Given the description of an element on the screen output the (x, y) to click on. 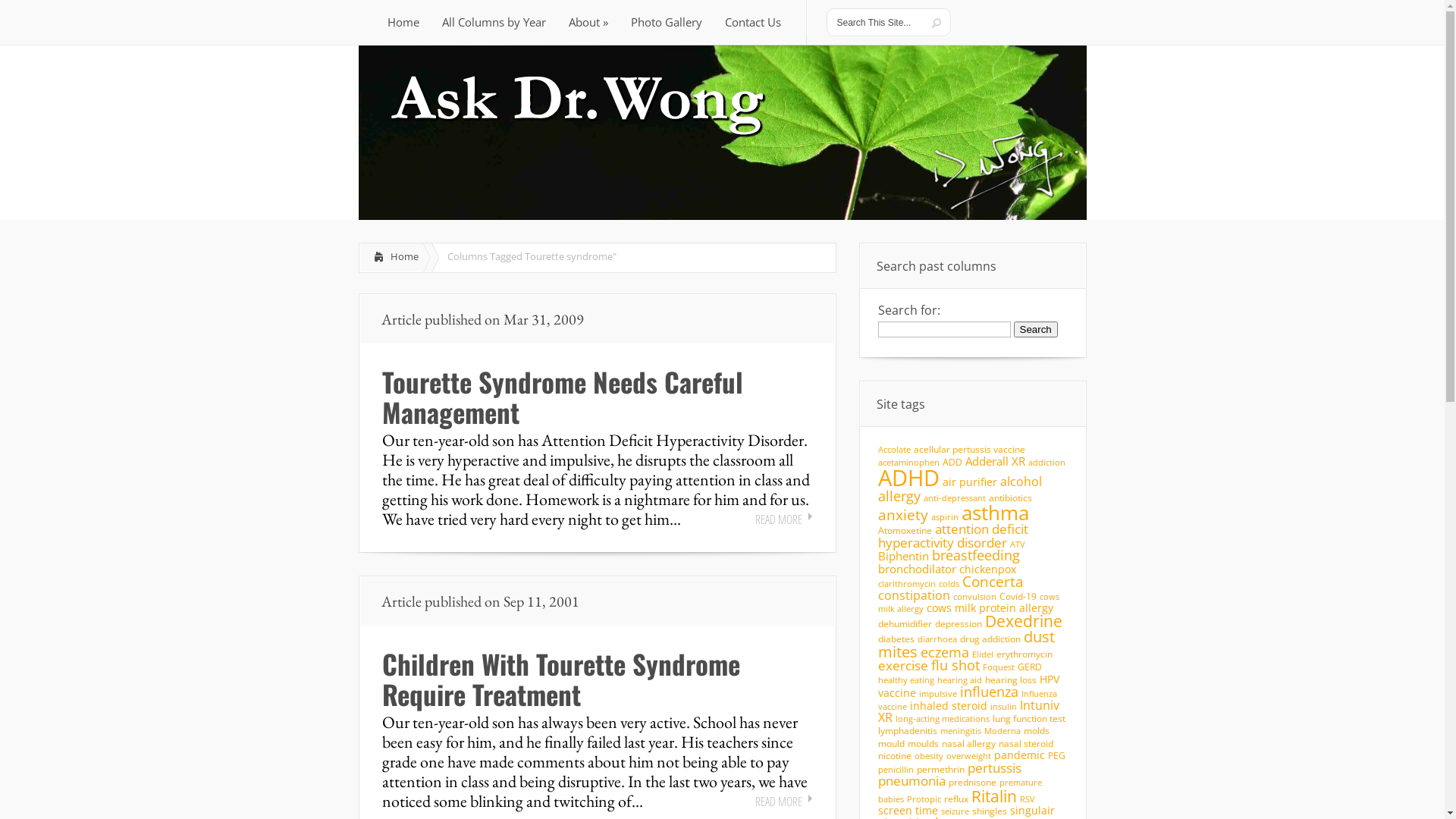
alcohol Element type: text (1020, 481)
RSV Element type: text (1026, 798)
permethrin Element type: text (939, 768)
Photo Gallery Element type: text (665, 22)
penicillin Element type: text (895, 769)
ADD Element type: text (951, 461)
flu shot Element type: text (955, 664)
Accolate Element type: text (894, 449)
air purifier Element type: text (968, 481)
Children With Tourette Syndrome Require Treatment Element type: text (561, 678)
Home Element type: text (403, 22)
obesity Element type: text (928, 755)
colds Element type: text (948, 583)
nasal allergy Element type: text (968, 743)
dust mites Element type: text (966, 644)
lymphadenitis Element type: text (907, 730)
shingles Element type: text (989, 810)
drug addiction Element type: text (990, 638)
anti-depressant Element type: text (954, 497)
aspirin Element type: text (944, 516)
hearing aid Element type: text (959, 679)
Atomoxetine Element type: text (904, 530)
READ MORE Element type: text (783, 519)
diabetes Element type: text (896, 638)
cows milk allergy Element type: text (968, 602)
Covid-19 Element type: text (1017, 595)
Moderna Element type: text (1002, 730)
molds Element type: text (1036, 730)
constipation Element type: text (914, 594)
clarithromycin Element type: text (906, 583)
diarrhoea Element type: text (937, 638)
GERD Element type: text (1029, 666)
erythromycin Element type: text (1024, 653)
antibiotics Element type: text (1010, 497)
lung function test Element type: text (1027, 718)
Contact Us Element type: text (751, 22)
meningitis Element type: text (960, 730)
screen time Element type: text (908, 810)
READ MORE Element type: text (783, 801)
impulsive Element type: text (938, 693)
pneumonia Element type: text (911, 780)
dehumidifier Element type: text (904, 623)
Ritalin Element type: text (993, 795)
Influenza vaccine Element type: text (967, 700)
eczema Element type: text (944, 652)
moulds Element type: text (922, 743)
Foquest Element type: text (998, 667)
healthy eating Element type: text (906, 679)
prednisone Element type: text (971, 781)
Search Element type: text (1035, 329)
premature babies Element type: text (959, 790)
Home Element type: text (390, 257)
About Element type: text (587, 22)
mould Element type: text (891, 743)
HPV vaccine Element type: text (968, 685)
Elidel Element type: text (982, 654)
insulin Element type: text (1003, 706)
bronchodilator Element type: text (917, 568)
Intuniv XR Element type: text (968, 710)
Adderall XR Element type: text (994, 460)
anxiety Element type: text (903, 514)
acellular pertussis vaccine Element type: text (968, 448)
singulair Element type: text (1032, 810)
All Columns by Year Element type: text (493, 22)
long-acting medications Element type: text (941, 718)
ATV Element type: text (1017, 544)
overweight Element type: text (968, 755)
allergy Element type: text (899, 495)
nasal steroid Element type: text (1024, 743)
Dexedrine Element type: text (1022, 620)
nicotine Element type: text (894, 755)
breastfeeding Element type: text (975, 555)
depression Element type: text (957, 623)
attention deficit hyperactivity disorder Element type: text (953, 535)
convulsion Element type: text (973, 596)
reflux Element type: text (955, 798)
influenza Element type: text (989, 691)
exercise Element type: text (903, 665)
acetaminophen Element type: text (908, 462)
addiction Element type: text (1046, 462)
PEG Element type: text (1056, 755)
inhaled steroid Element type: text (948, 705)
hearing loss Element type: text (1009, 679)
seizure Element type: text (954, 811)
Biphentin Element type: text (903, 555)
Tourette Syndrome Needs Careful Management Element type: text (562, 396)
Concerta Element type: text (991, 580)
pertussis Element type: text (994, 767)
asthma Element type: text (995, 512)
cows milk protein allergy Element type: text (989, 607)
Protopic Element type: text (923, 798)
ADHD Element type: text (908, 477)
pandemic Element type: text (1018, 754)
chickenpox Element type: text (986, 568)
